Given the description of an element on the screen output the (x, y) to click on. 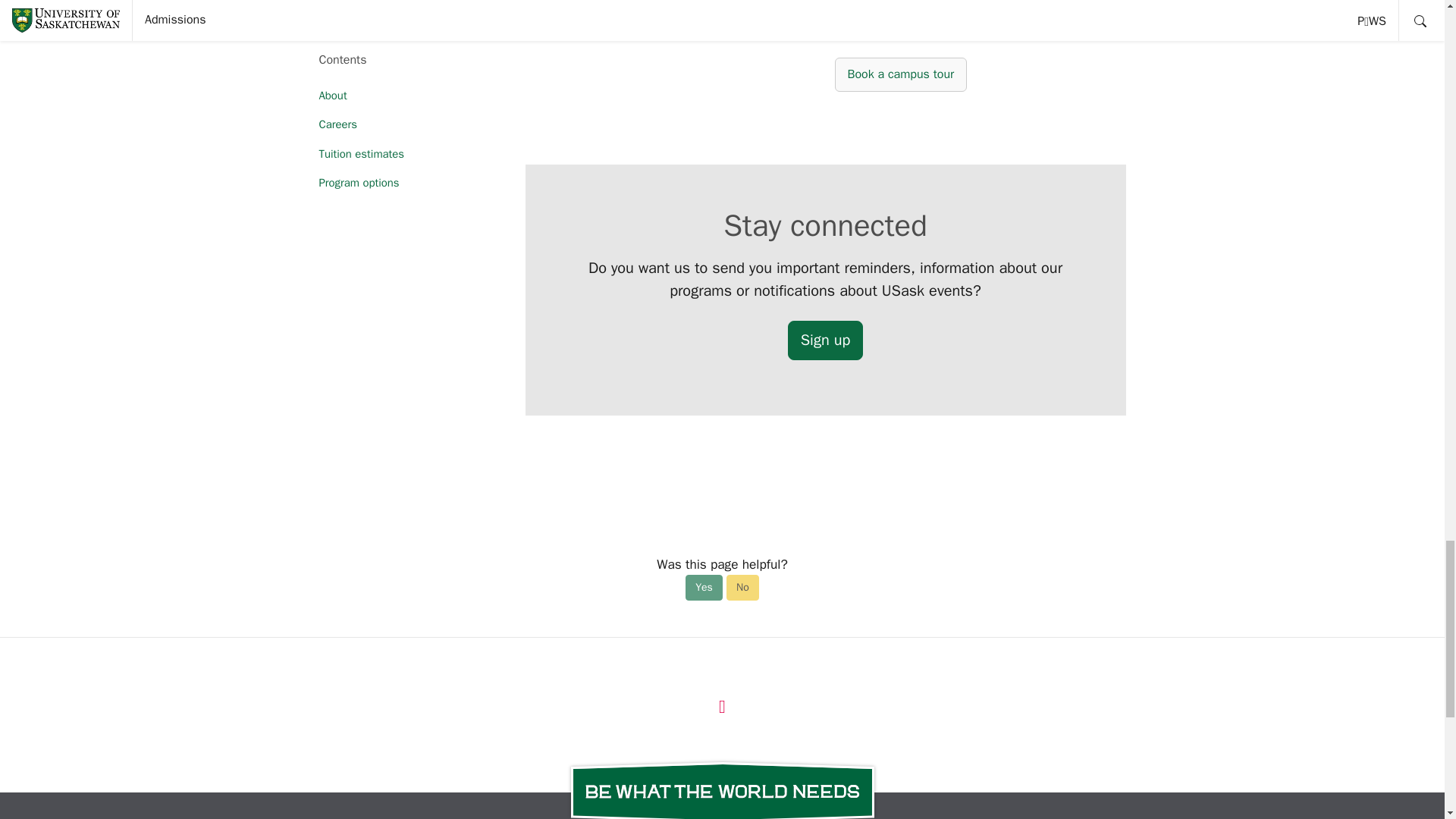
Follow on Instagram (722, 705)
